Given the description of an element on the screen output the (x, y) to click on. 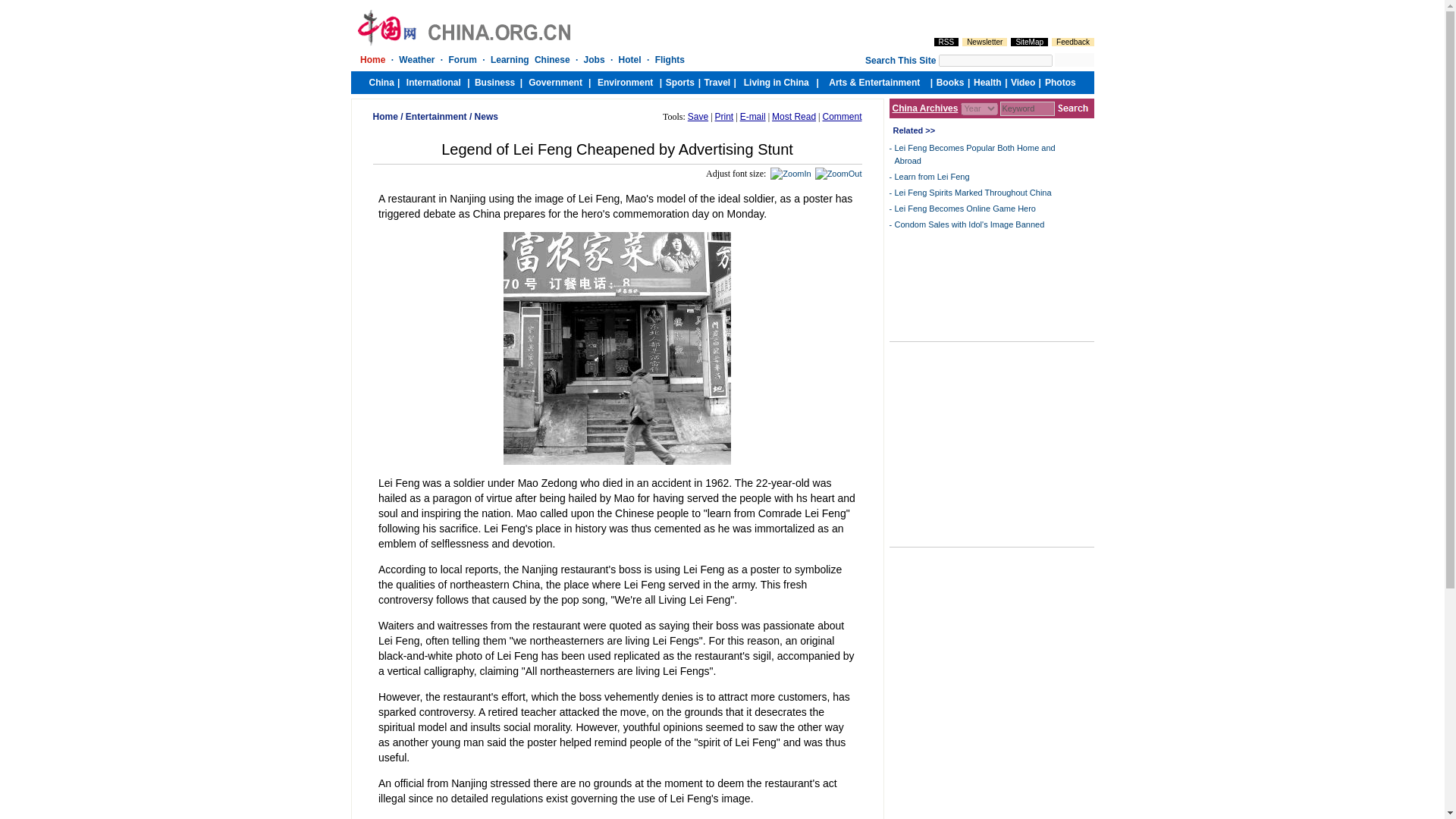
Save (697, 116)
E-mail (752, 116)
Most Read (793, 116)
Lei Feng Becomes Popular Both Home and Abroad (975, 154)
Condom Sales with Idol's Image Banned (970, 224)
Entertainment (436, 116)
Home (384, 116)
Print (723, 116)
Learn from Lei Feng (932, 175)
Lei Feng Spirits Marked Throughout China (973, 192)
Keyword (1026, 108)
News (485, 116)
Comment (841, 116)
Lei Feng Becomes Online Game Hero (965, 207)
